Given the description of an element on the screen output the (x, y) to click on. 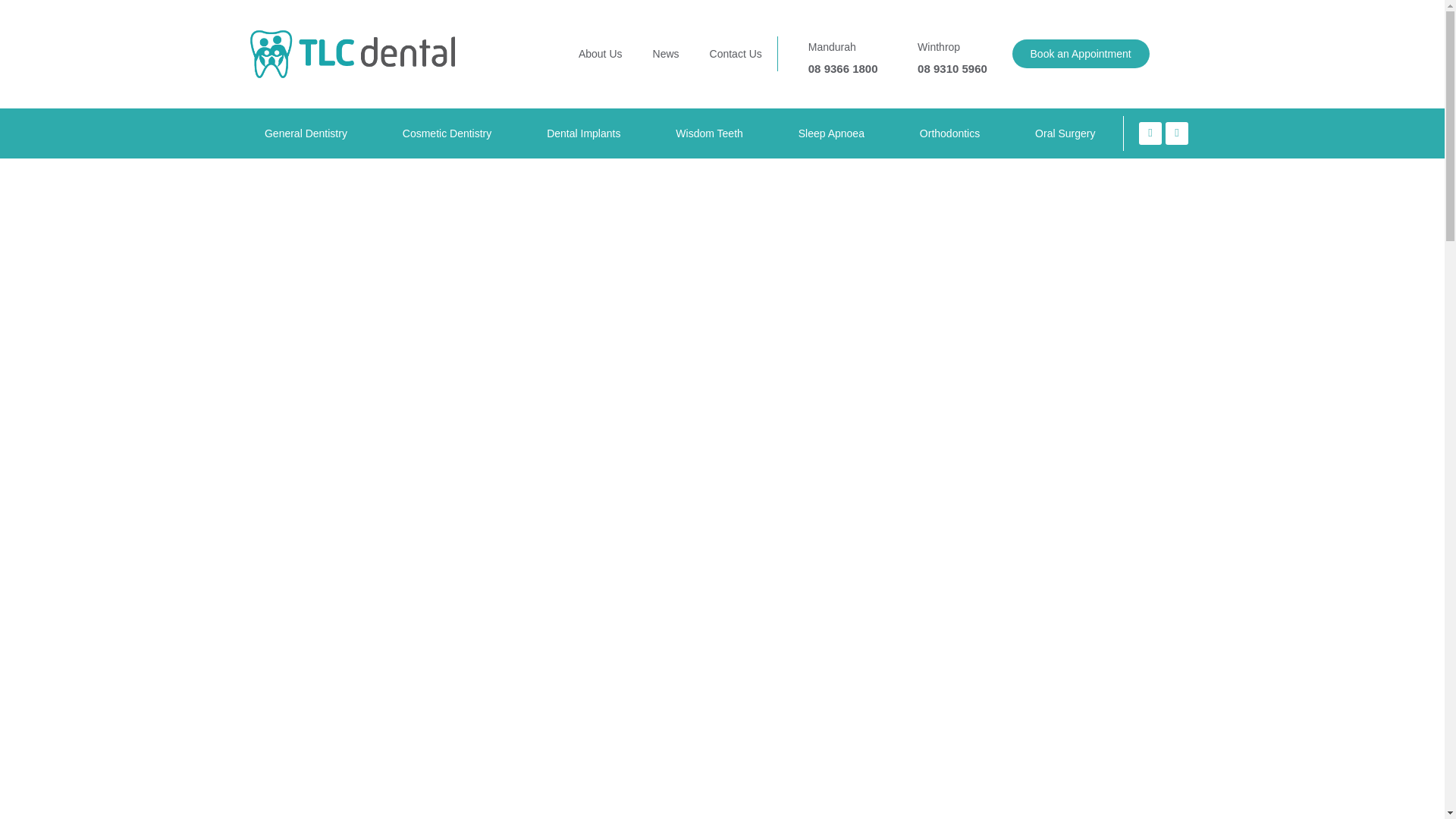
Dental Implants (583, 133)
Oral Surgery (1064, 133)
Book an Appointment (1080, 53)
About Us (600, 53)
Contact Us (735, 53)
Cosmetic Dentistry (446, 133)
Orthodontics (949, 133)
08 9310 5960 (957, 68)
Sleep Apnoea (830, 133)
General Dentistry (304, 133)
